Given the description of an element on the screen output the (x, y) to click on. 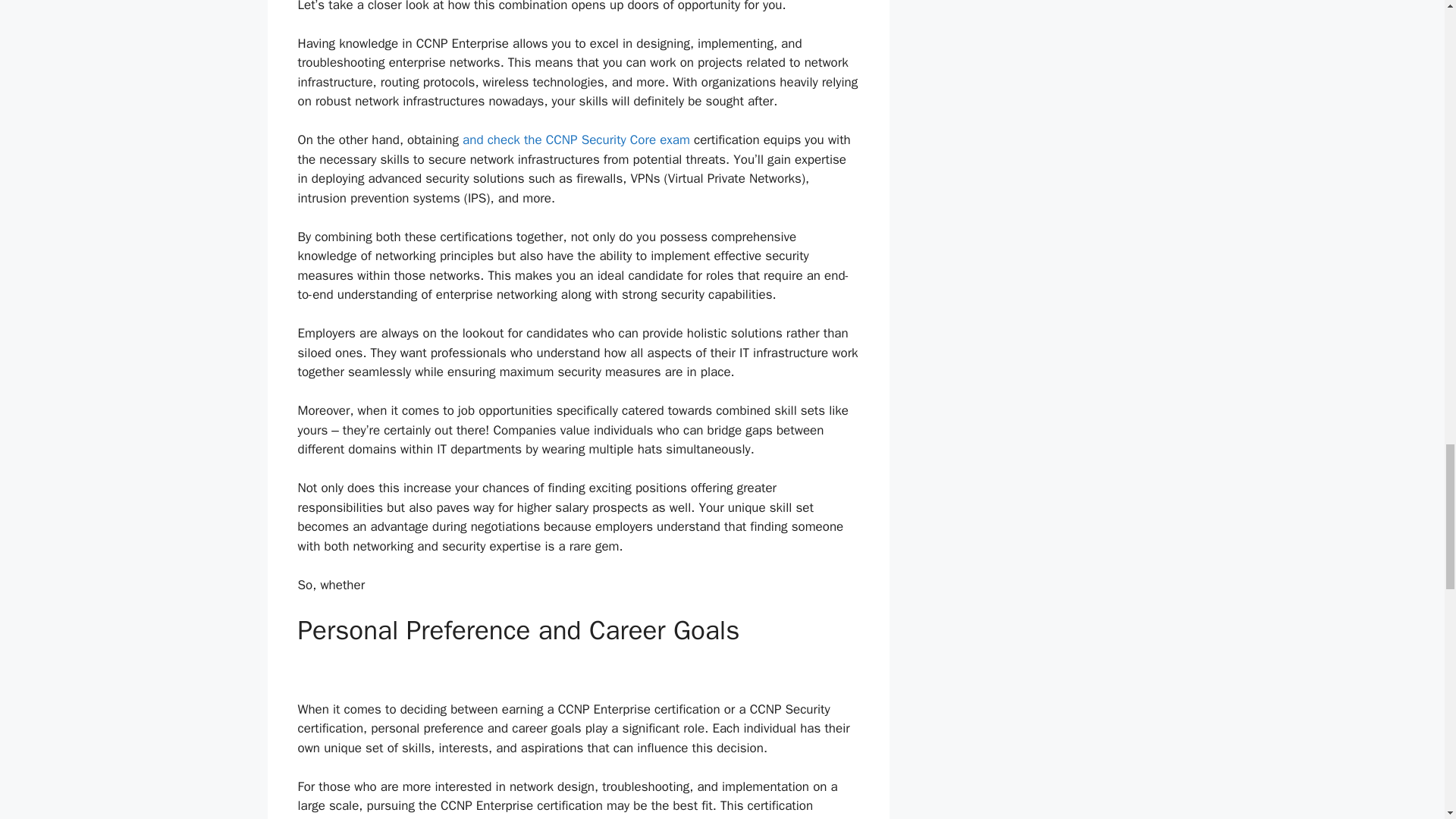
and check the CCNP Security Core exam (576, 139)
